Given the description of an element on the screen output the (x, y) to click on. 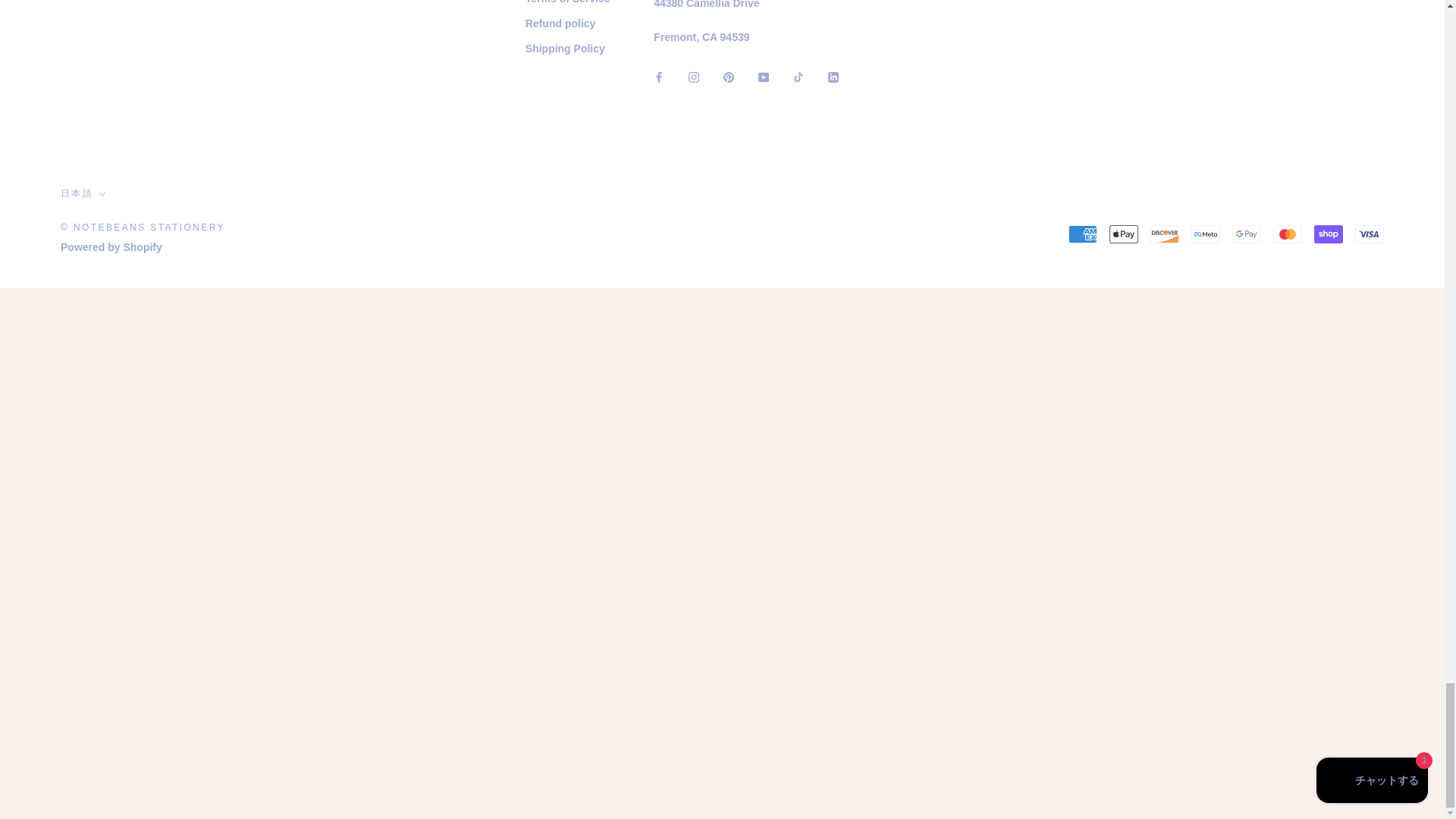
Mastercard (1286, 234)
American Express (1082, 234)
Apple Pay (1123, 234)
Meta Pay (1205, 234)
Google Pay (1245, 234)
Discover (1164, 234)
